Given the description of an element on the screen output the (x, y) to click on. 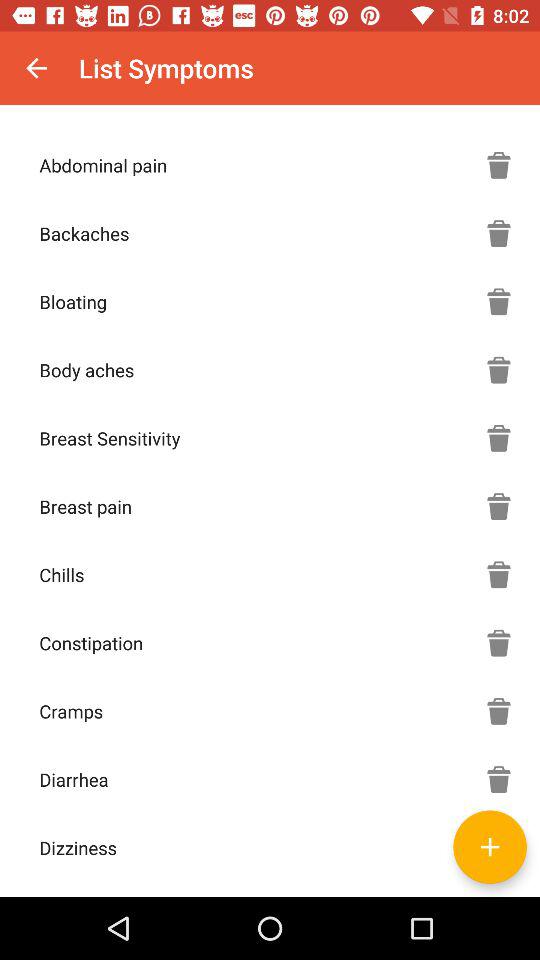
remove symptom (499, 574)
